Given the description of an element on the screen output the (x, y) to click on. 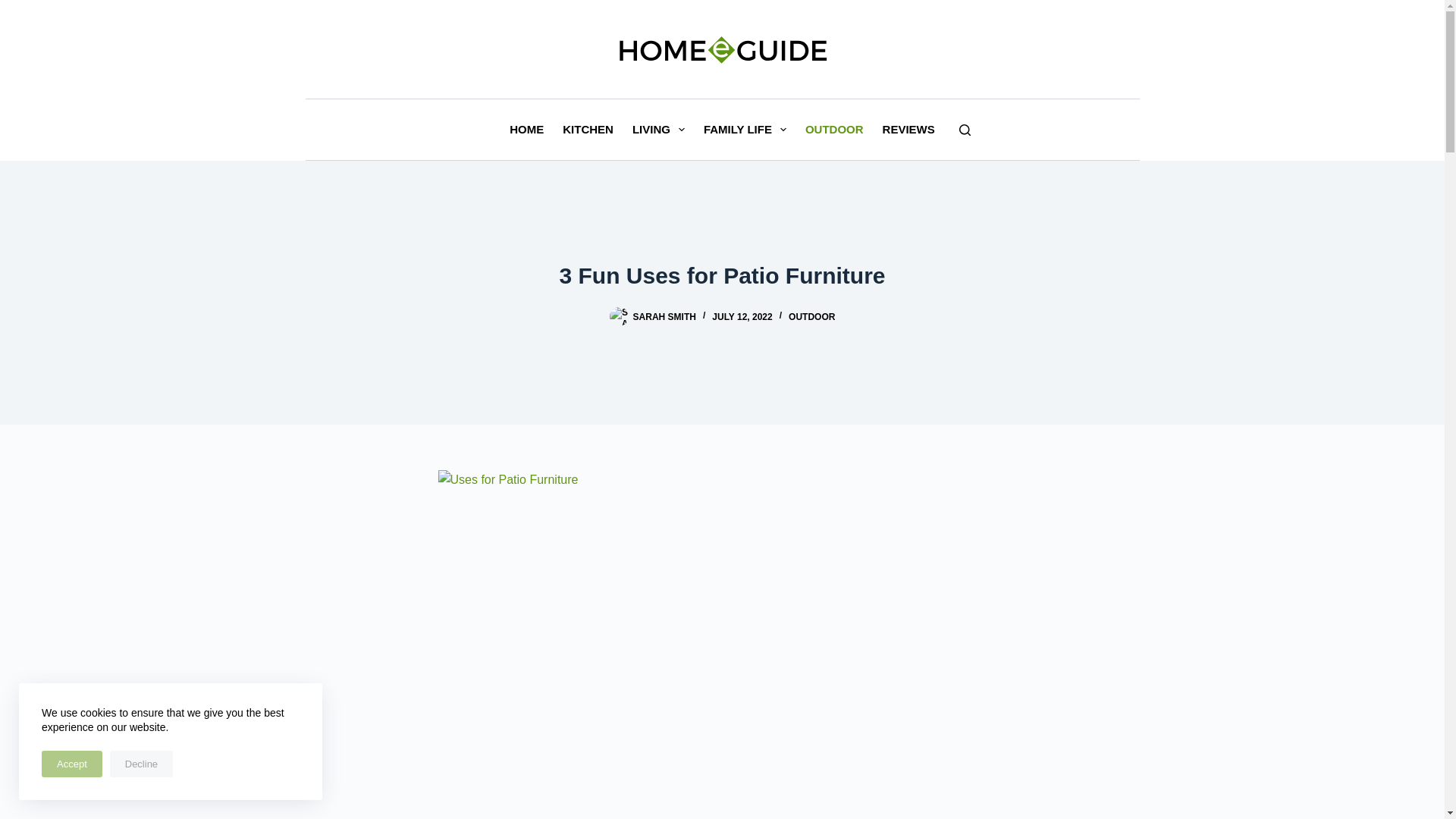
FAMILY LIFE (744, 129)
LIVING (658, 129)
Posts by Sarah Smith (664, 317)
3 Fun Uses for Patio Furniture (722, 275)
KITCHEN (588, 129)
Decline (141, 764)
OUTDOOR (833, 129)
REVIEWS (907, 129)
Accept (71, 764)
Skip to content (15, 7)
